Given the description of an element on the screen output the (x, y) to click on. 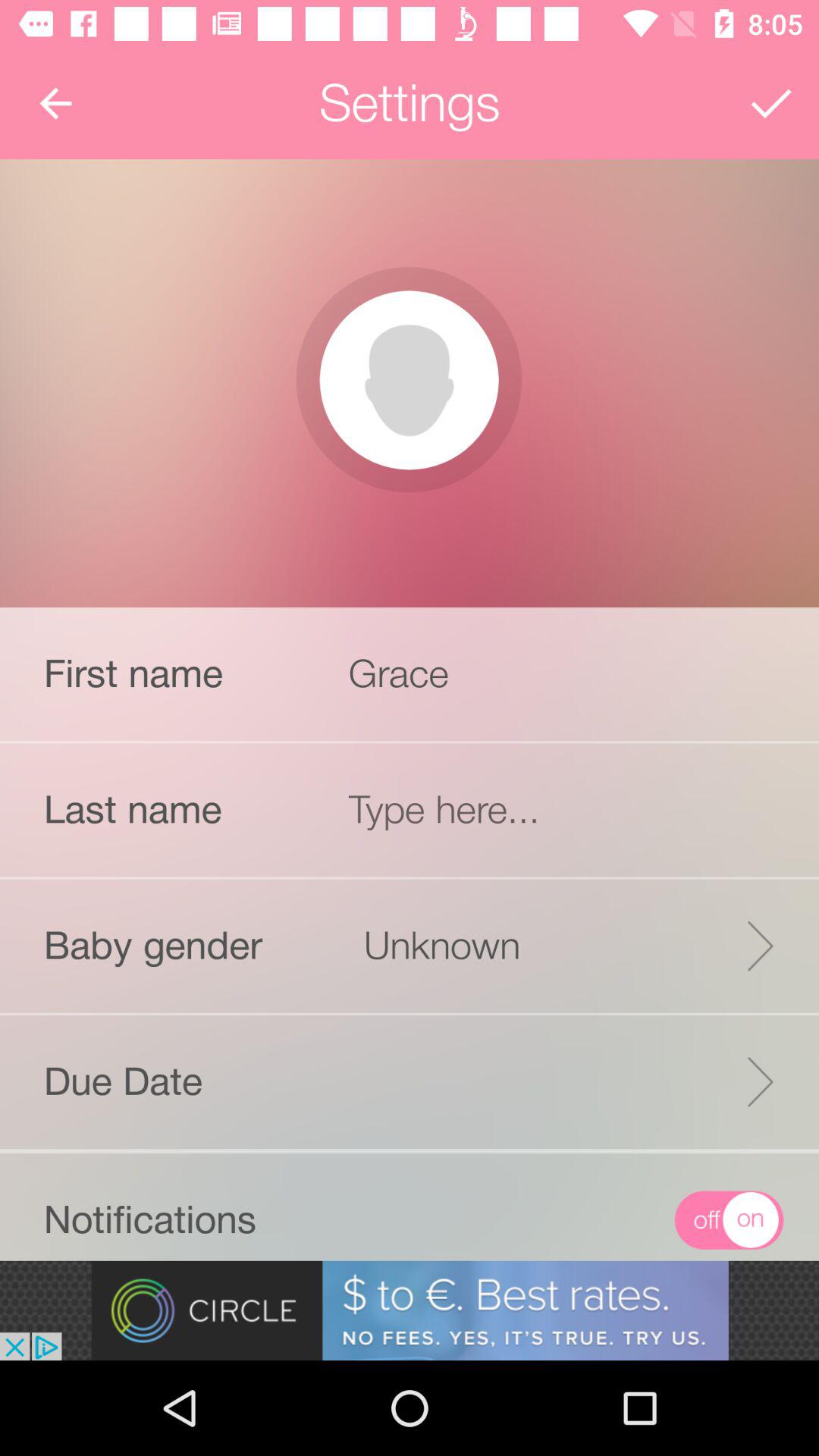
typing box (566, 809)
